Given the description of an element on the screen output the (x, y) to click on. 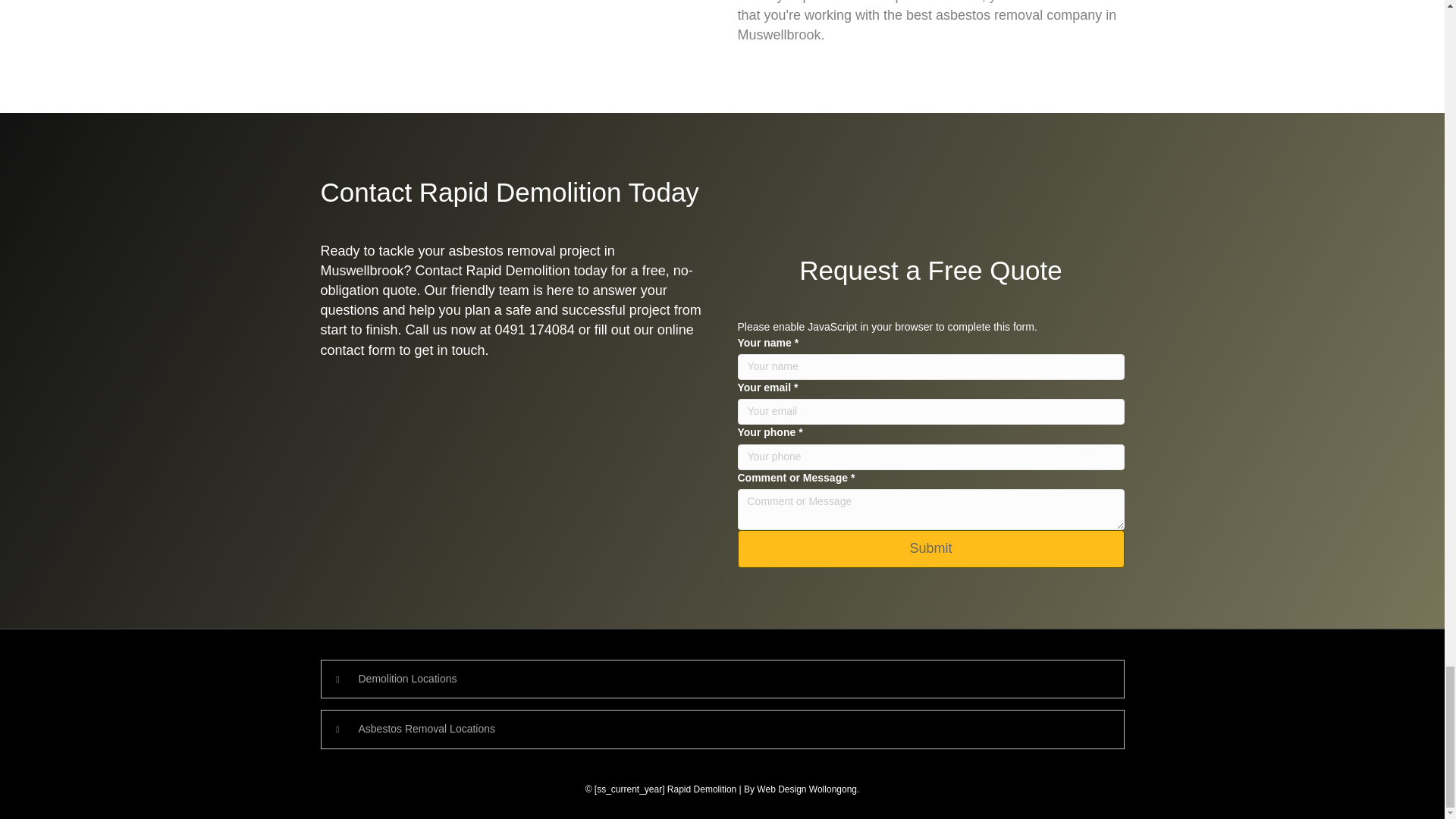
Submit (930, 548)
